Given the description of an element on the screen output the (x, y) to click on. 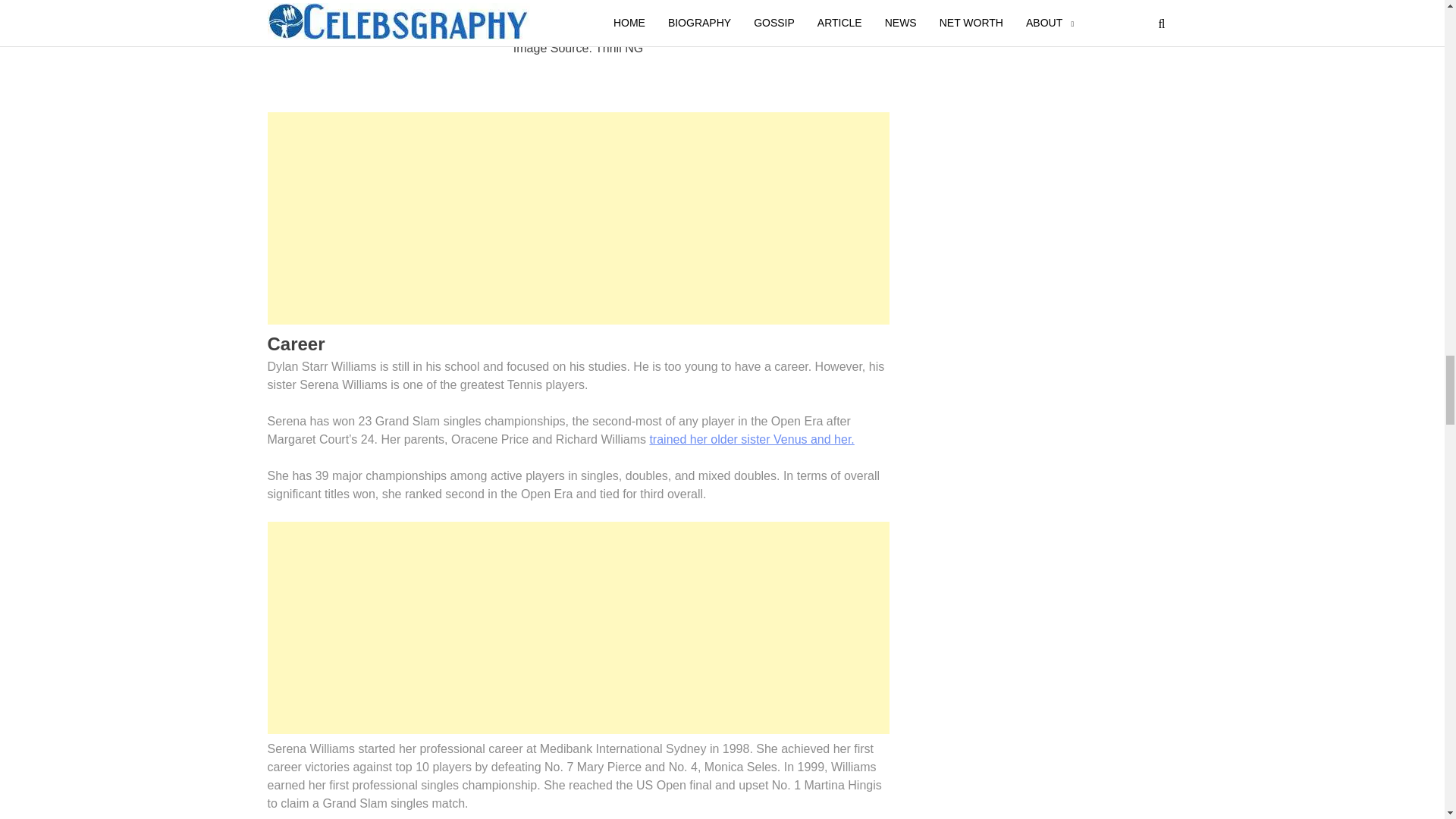
trained her older sister Venus and her. (751, 439)
